Given the description of an element on the screen output the (x, y) to click on. 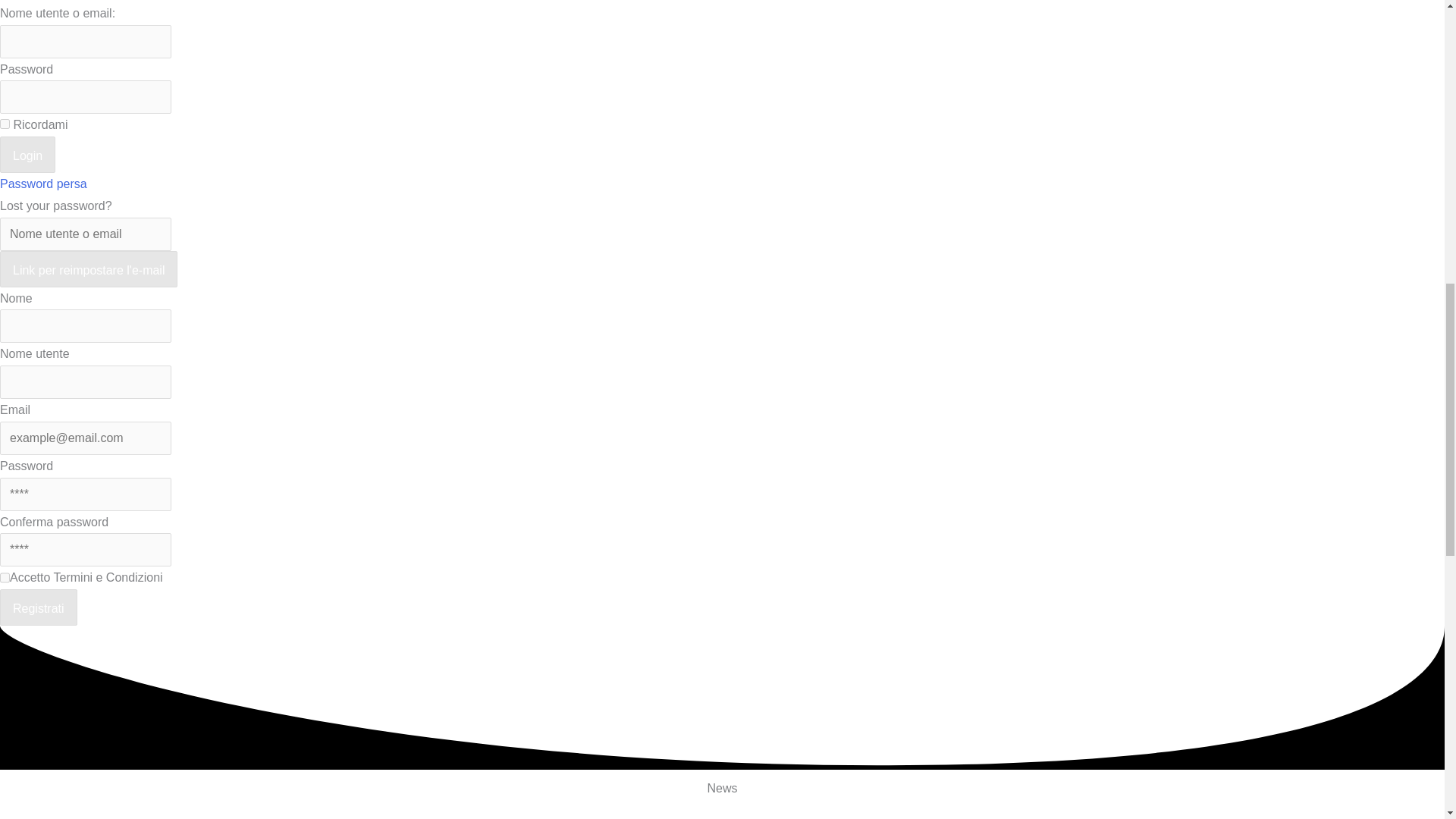
Registrati (38, 606)
forever (5, 123)
Password persa (43, 183)
Link per reimpostare l'e-mail (88, 268)
Login (27, 154)
